Given the description of an element on the screen output the (x, y) to click on. 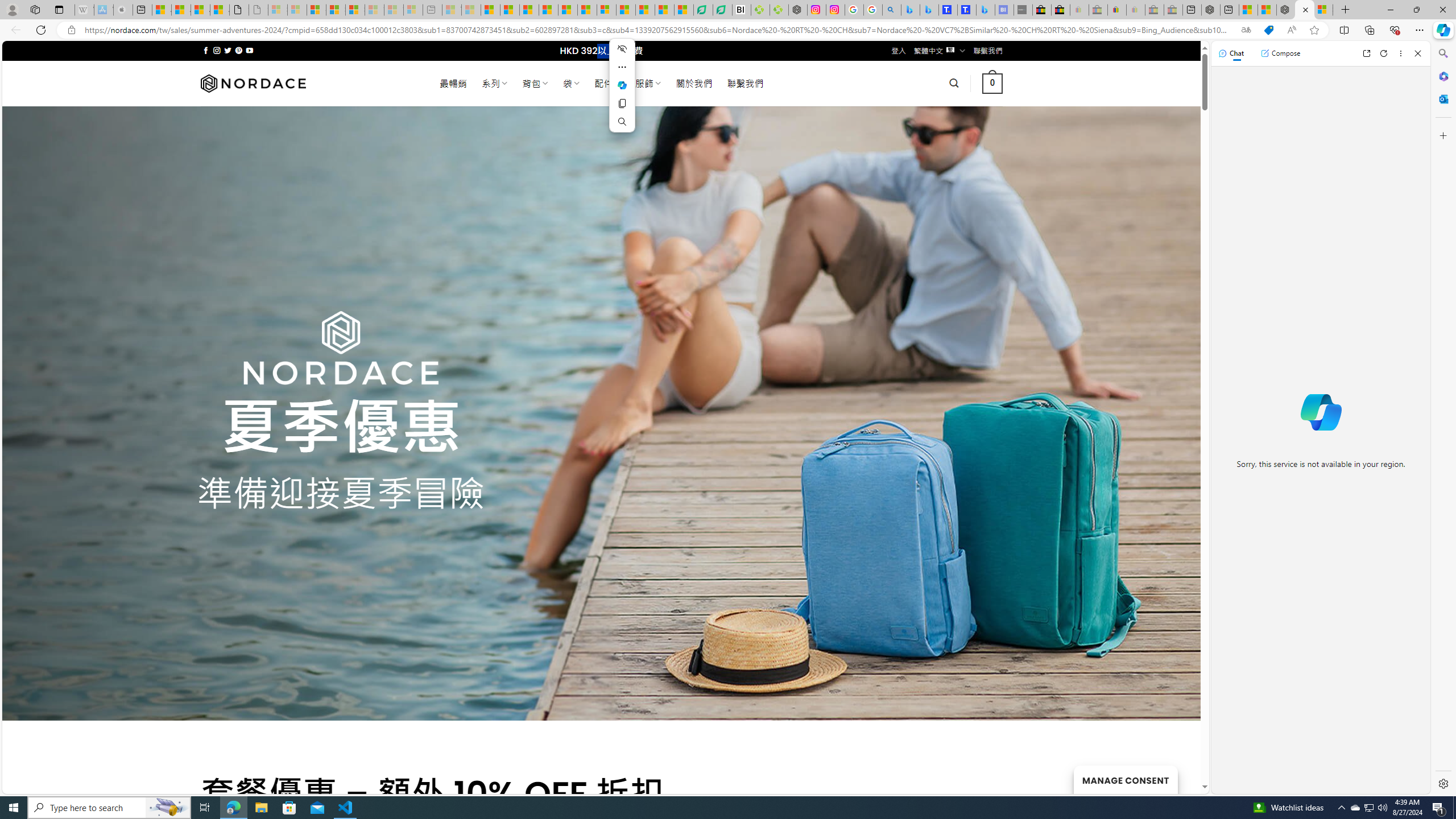
The importance of being lazy (1267, 9)
Threats and offensive language policy | eBay (1116, 9)
Microsoft Bing Travel - Flights from Hong Kong to Bangkok (910, 9)
Nordace (252, 83)
Food and Drink - MSN (509, 9)
